Given the description of an element on the screen output the (x, y) to click on. 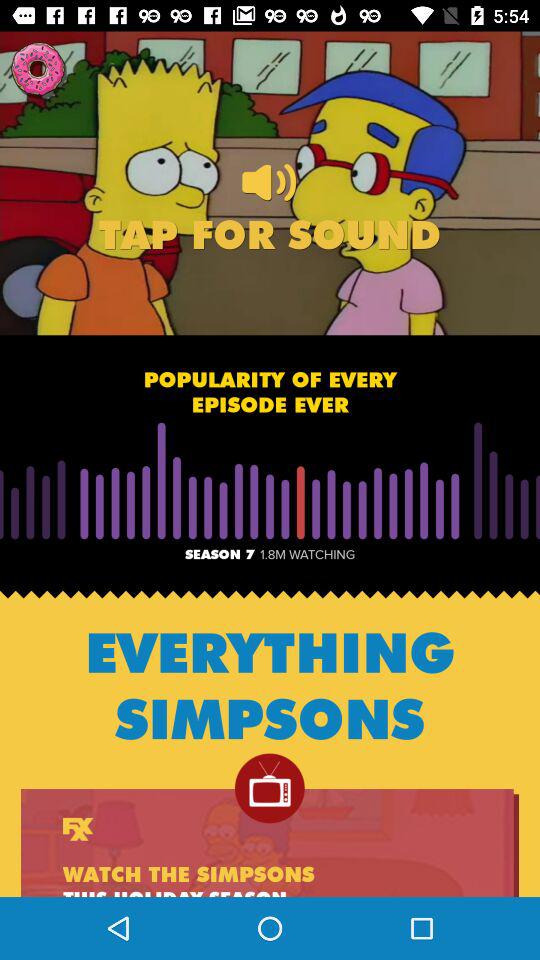
left side of 7 (182, 591)
